Given the description of an element on the screen output the (x, y) to click on. 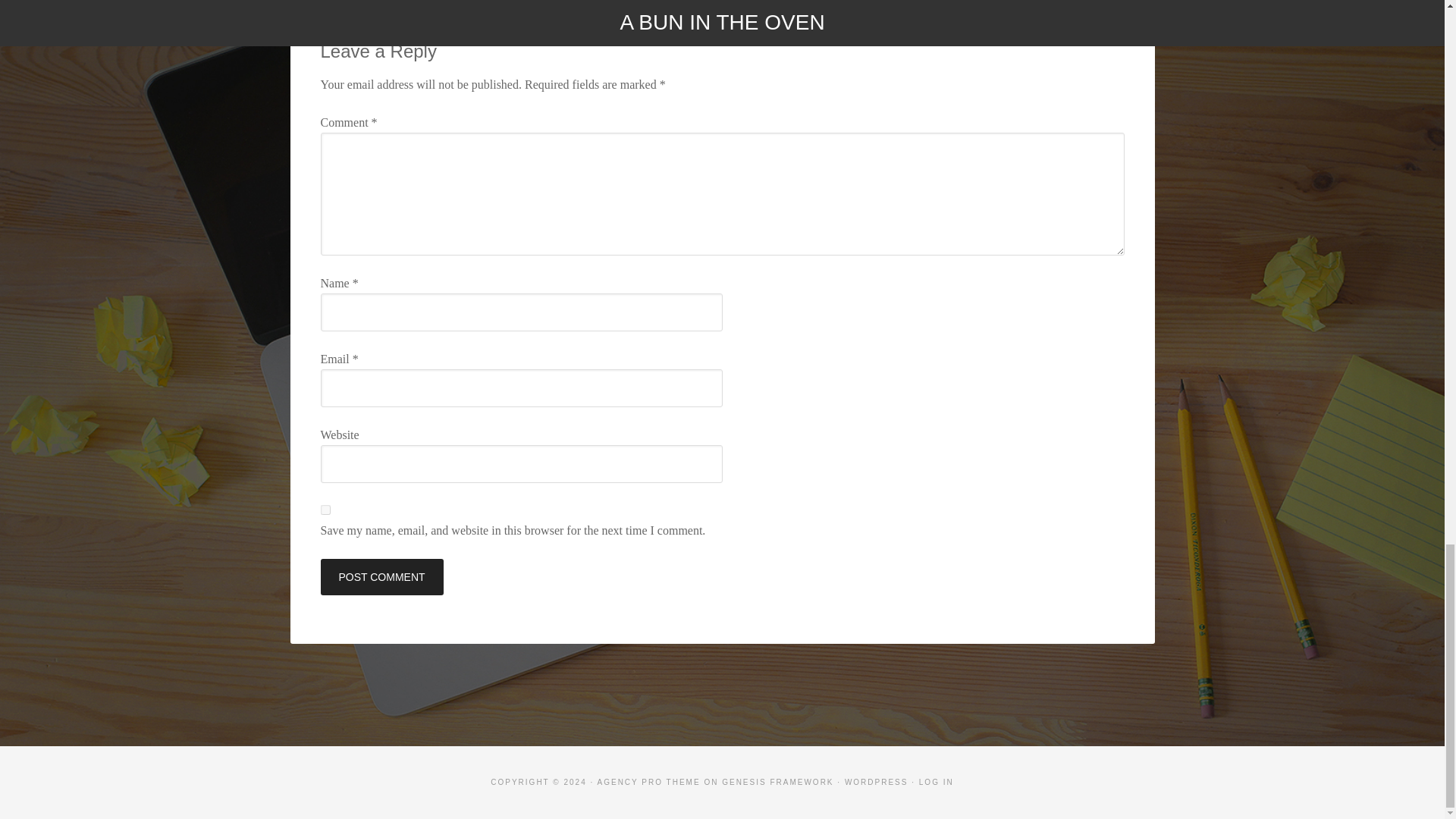
WORDPRESS (876, 782)
GENESIS FRAMEWORK (777, 782)
AGENCY PRO THEME (648, 782)
Post Comment (381, 576)
LOG IN (935, 782)
yes (325, 510)
Post Comment (381, 576)
